Given the description of an element on the screen output the (x, y) to click on. 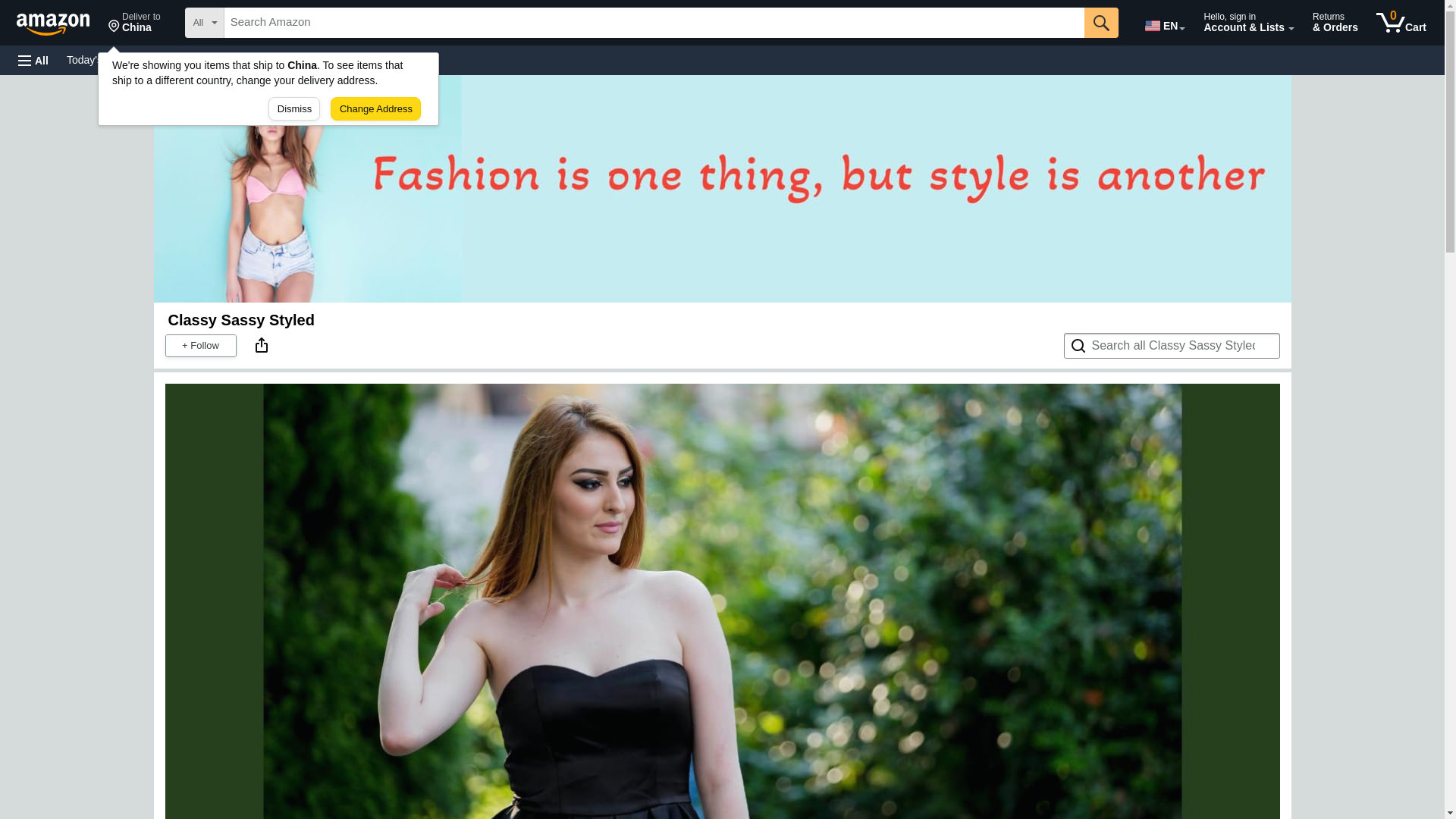
Today's Deals (99, 59)
Registry (272, 59)
Customer Service (192, 59)
Sell (384, 59)
EN (134, 22)
Gift Cards (1163, 22)
Classy Sassy Styled (333, 59)
Go (241, 320)
Skip to main content (1101, 22)
All (60, 21)
Go (33, 60)
